Given the description of an element on the screen output the (x, y) to click on. 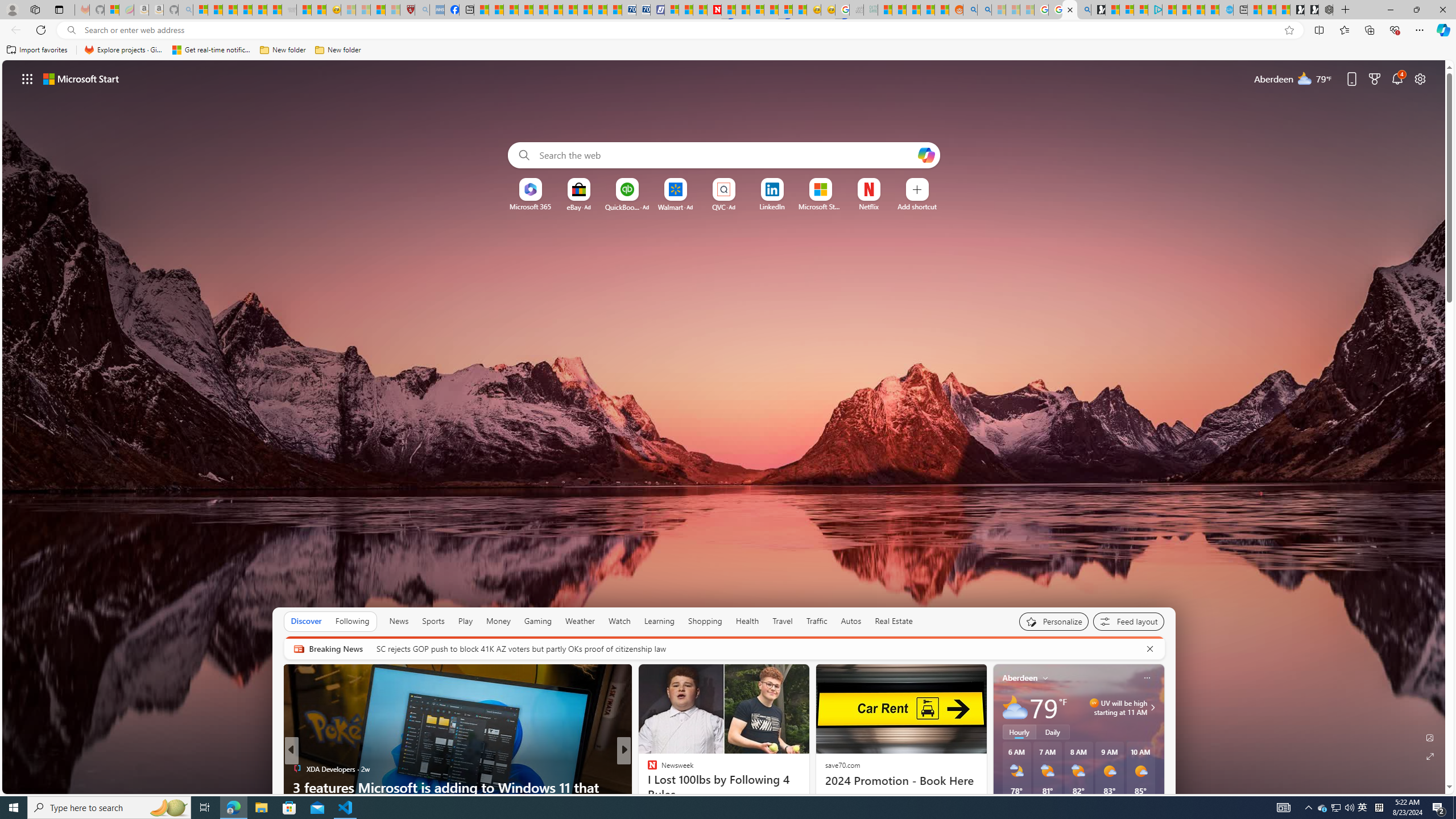
My location (1045, 677)
2024 Promotion - Book Here (900, 780)
Class: icon-img (1146, 677)
Feed settings (1128, 621)
14 Common Myths Debunked By Scientific Facts (742, 9)
